Given the description of an element on the screen output the (x, y) to click on. 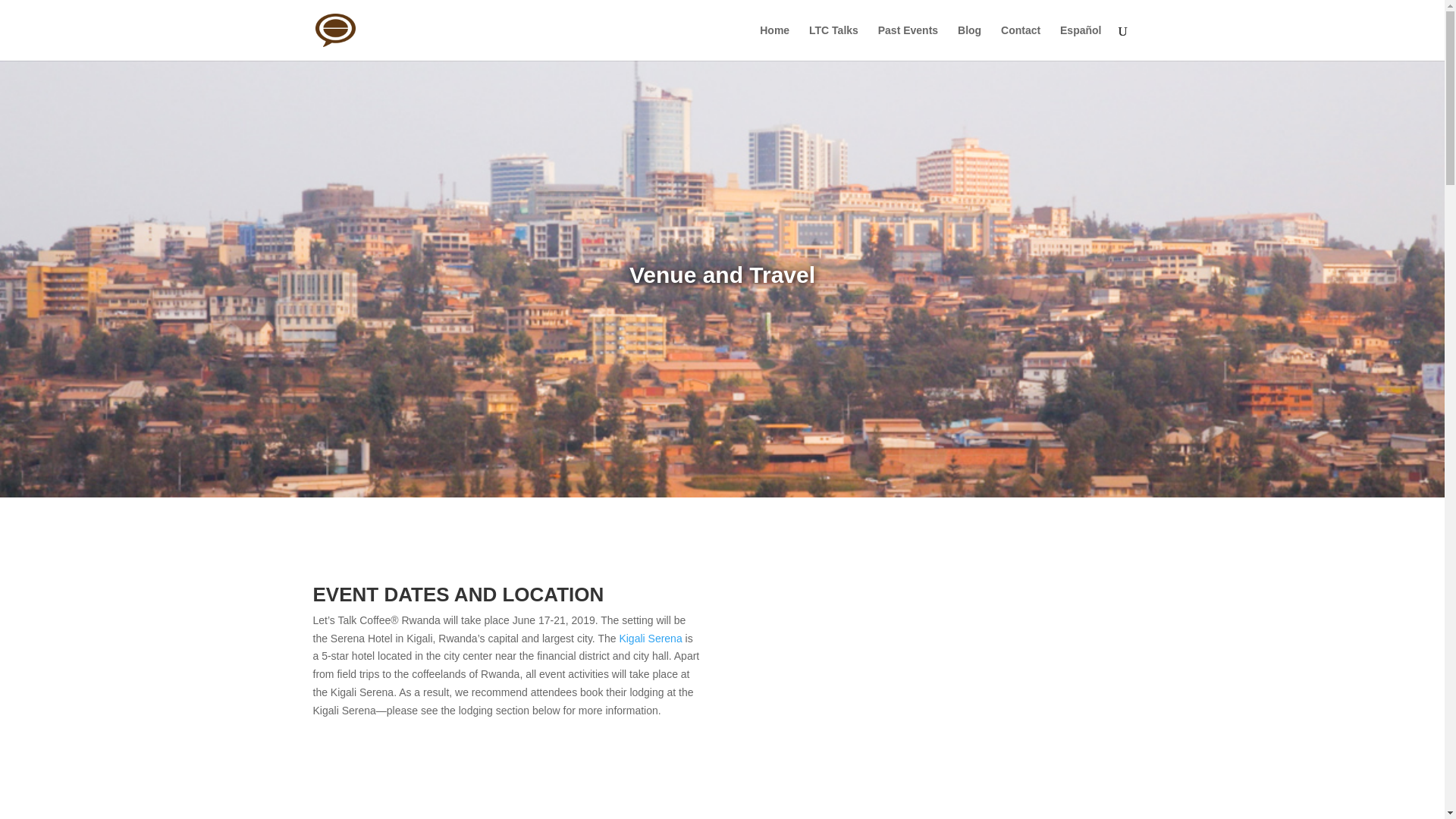
LTC Talks (834, 42)
Contact (1021, 42)
Past Events (907, 42)
Kigali Serena (649, 638)
